Given the description of an element on the screen output the (x, y) to click on. 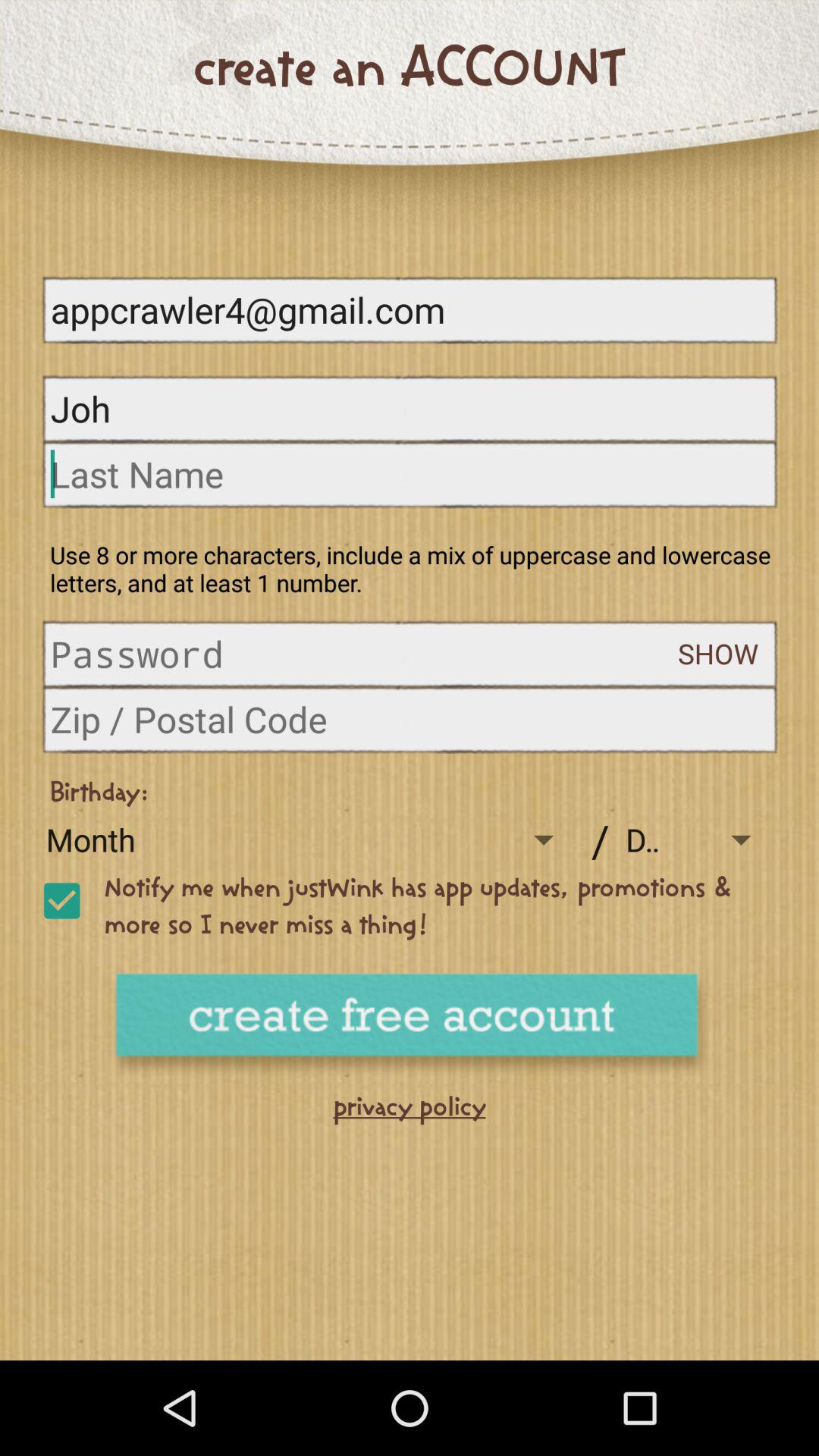
input zip code (409, 718)
